Given the description of an element on the screen output the (x, y) to click on. 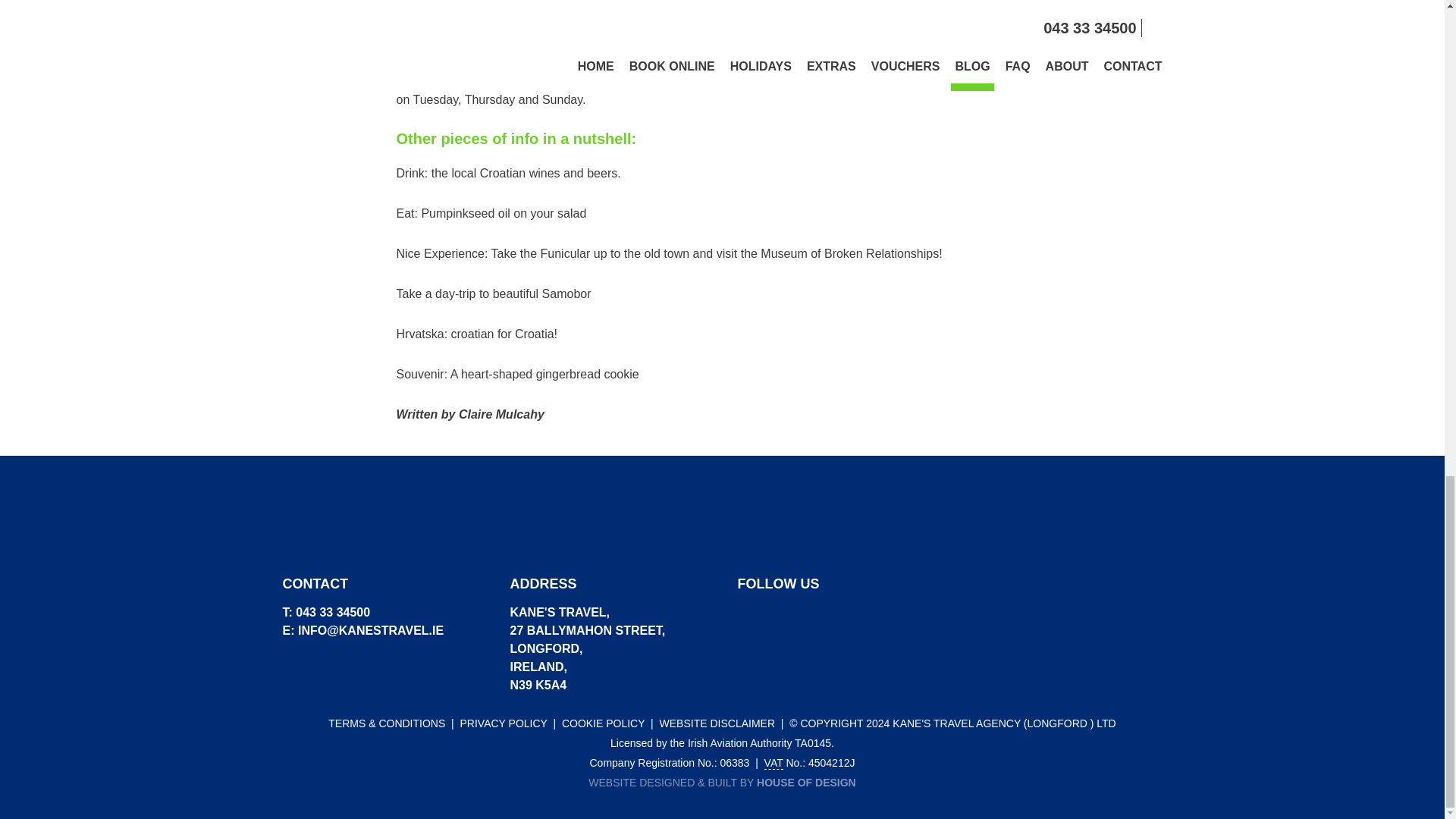
WEBSITE DISCLAIMER (716, 723)
PRIVACY POLICY (503, 723)
043 33 34500 (332, 612)
HOUSE OF DESIGN (806, 782)
COOKIE POLICY (603, 723)
Value Added Tax (773, 762)
